Given the description of an element on the screen output the (x, y) to click on. 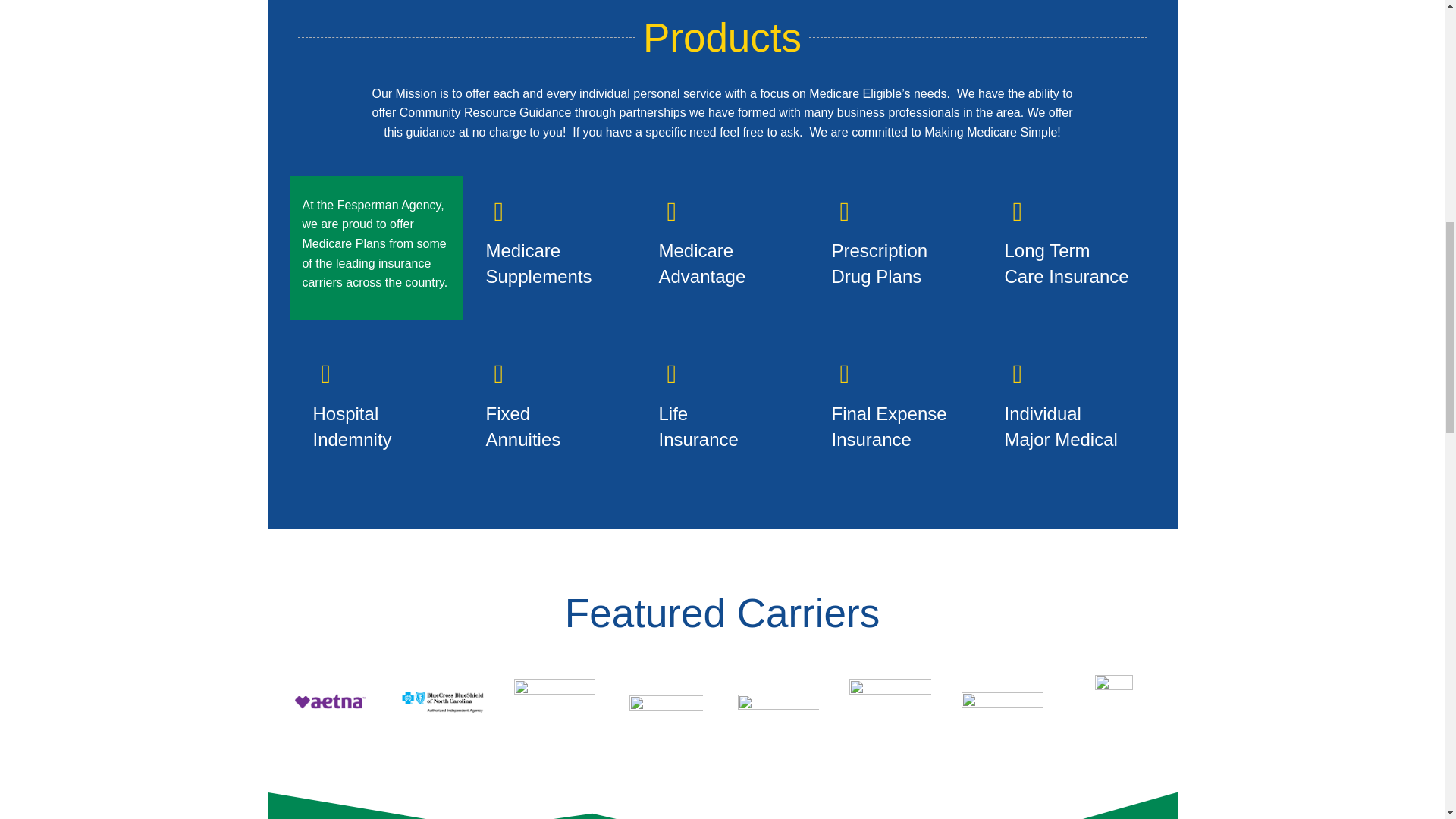
Prescription Drug Plans (879, 263)
Medicare Advantage (701, 263)
Medicare Supplements (537, 263)
